Given the description of an element on the screen output the (x, y) to click on. 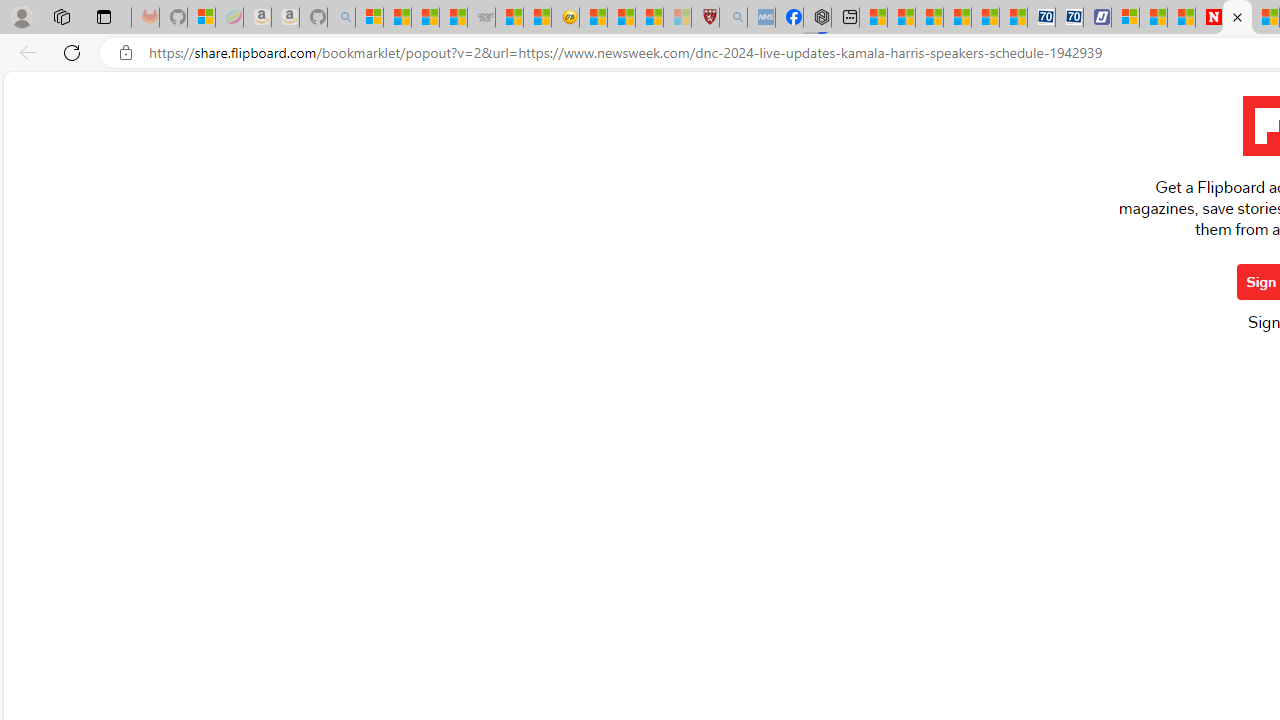
12 Popular Science Lies that Must be Corrected - Sleeping (677, 17)
